Given the description of an element on the screen output the (x, y) to click on. 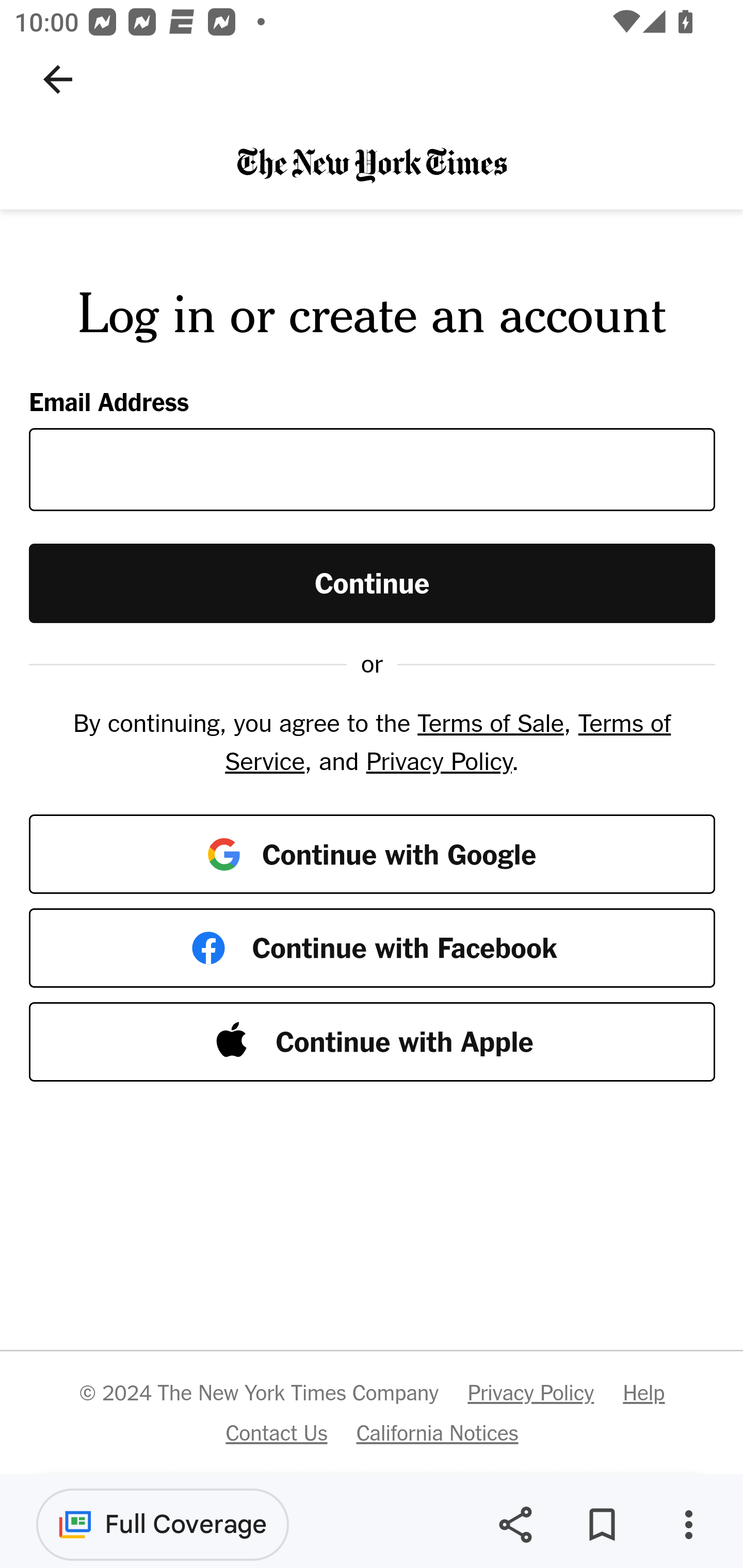
Navigate up (57, 79)
The New York Times (371, 164)
Continue (372, 582)
Terms of Service (447, 741)
Terms of Sale (490, 722)
Privacy Policy (438, 760)
Continue with Google (372, 853)
Continue with Facebook (372, 947)
Continue with Apple (372, 1041)
Privacy Policy (530, 1392)
Help (643, 1392)
Contact Us (275, 1432)
California Notices (437, 1432)
Share (514, 1524)
Save for later (601, 1524)
More options (688, 1524)
Full Coverage (162, 1524)
